Given the description of an element on the screen output the (x, y) to click on. 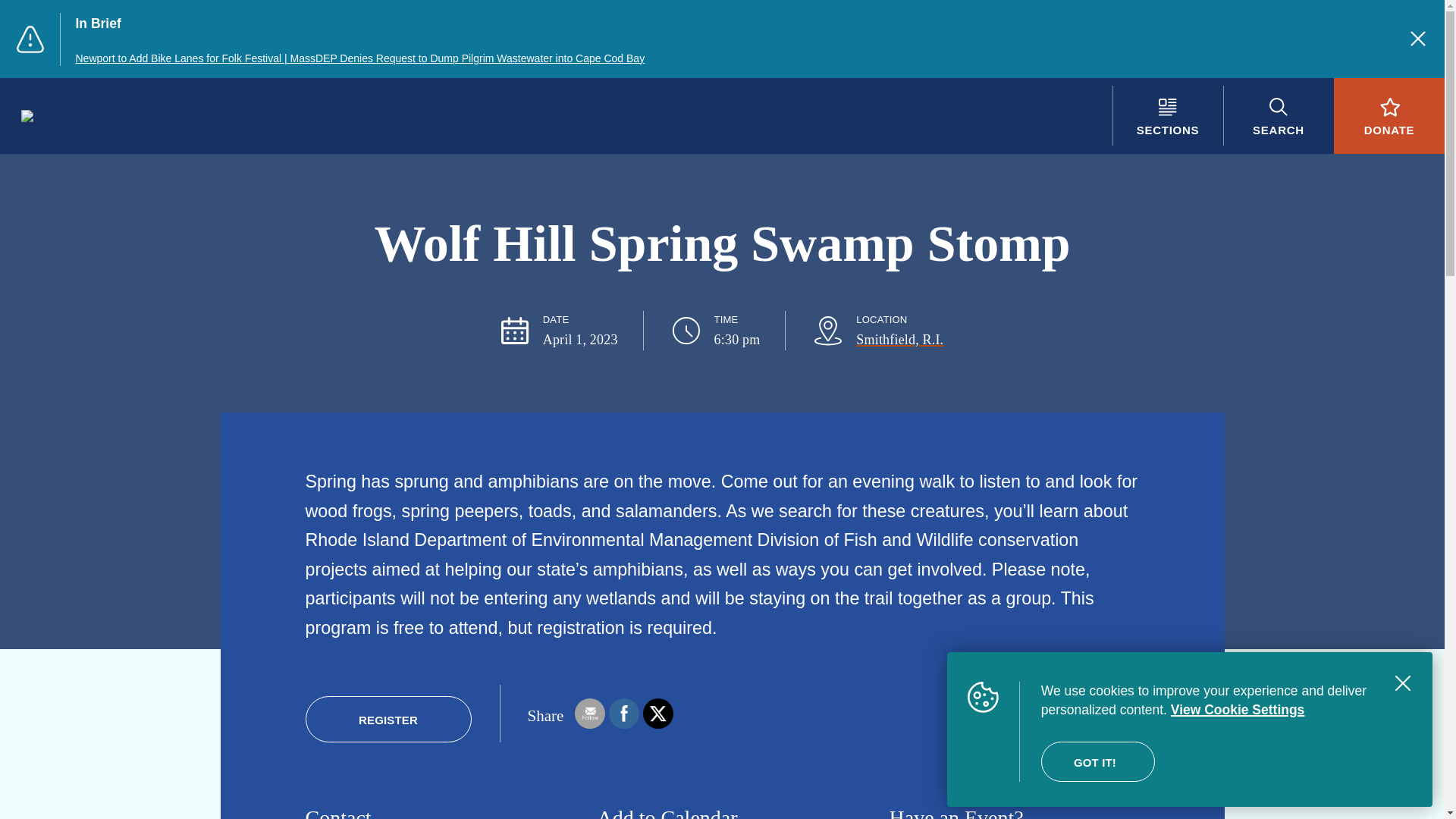
Close (1417, 38)
Search Button (1278, 115)
SECTIONS (1167, 115)
Facebook (623, 713)
Alert (29, 39)
Close view (1402, 683)
Twitter (657, 713)
